Given the description of an element on the screen output the (x, y) to click on. 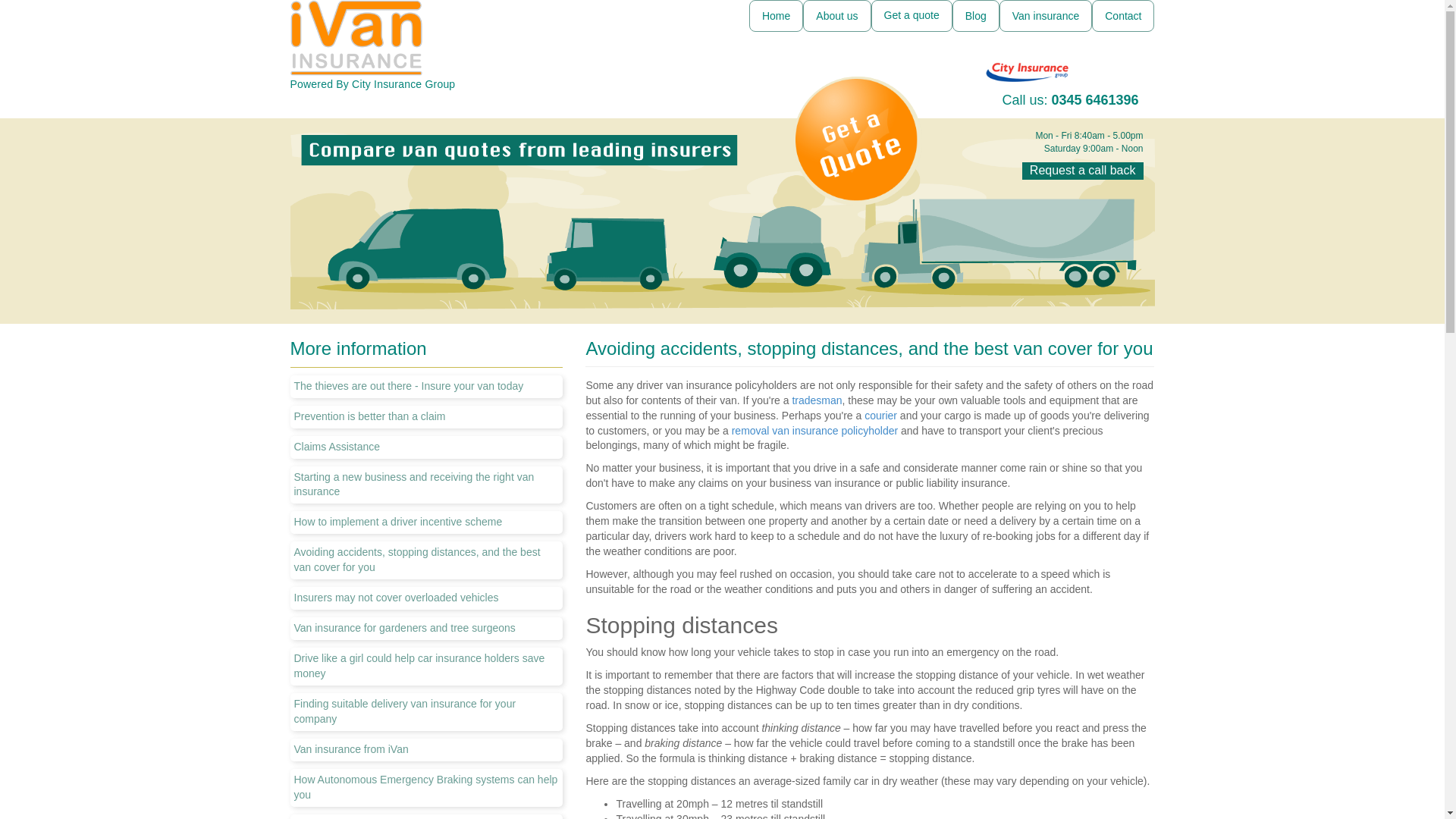
About us (836, 15)
Blog (975, 15)
Powered By City Insurance Group (425, 45)
Van insurance (1045, 15)
Contact (1123, 15)
Home (776, 15)
